Given the description of an element on the screen output the (x, y) to click on. 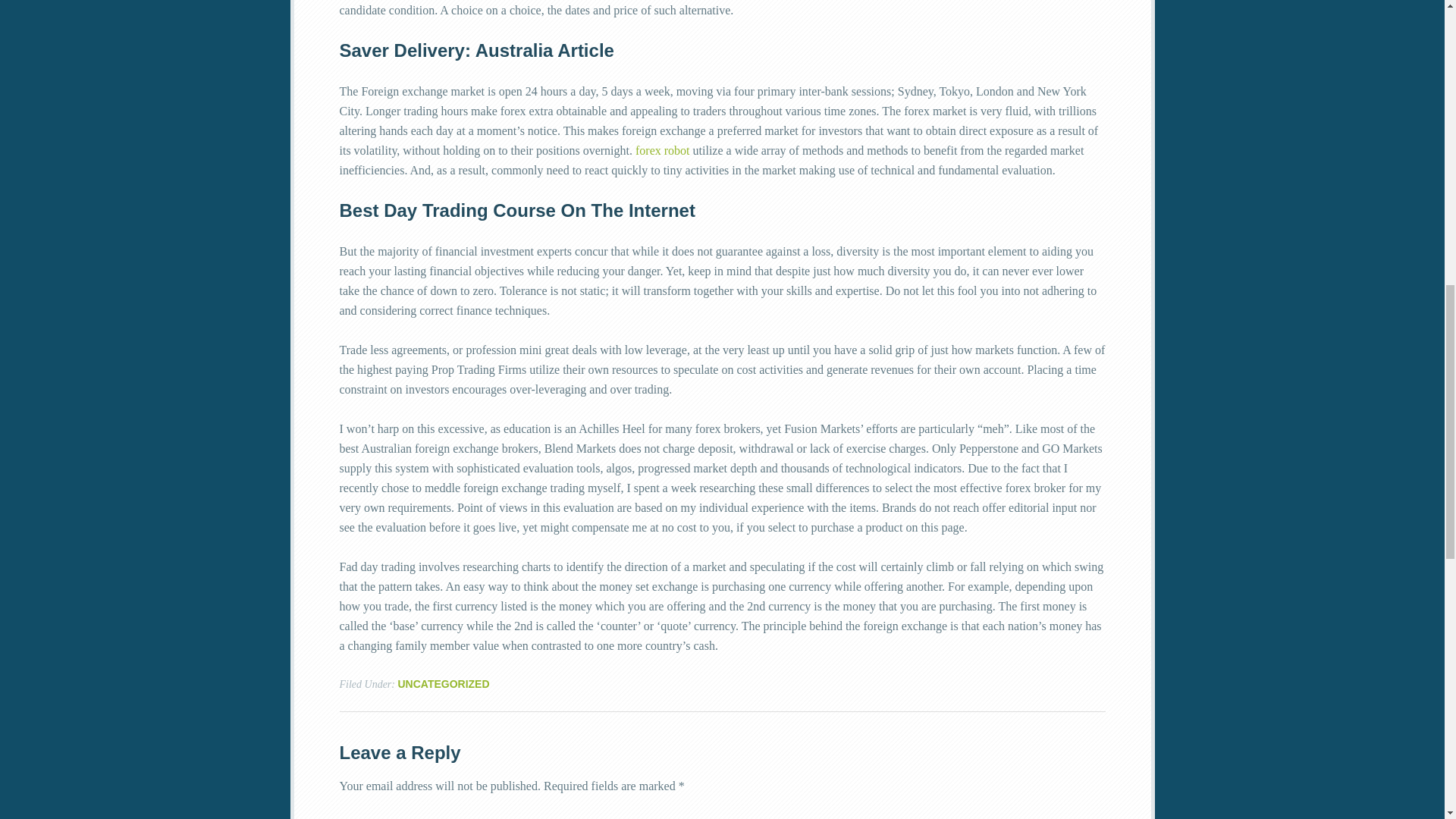
UNCATEGORIZED (443, 684)
forex robot (662, 150)
